Given the description of an element on the screen output the (x, y) to click on. 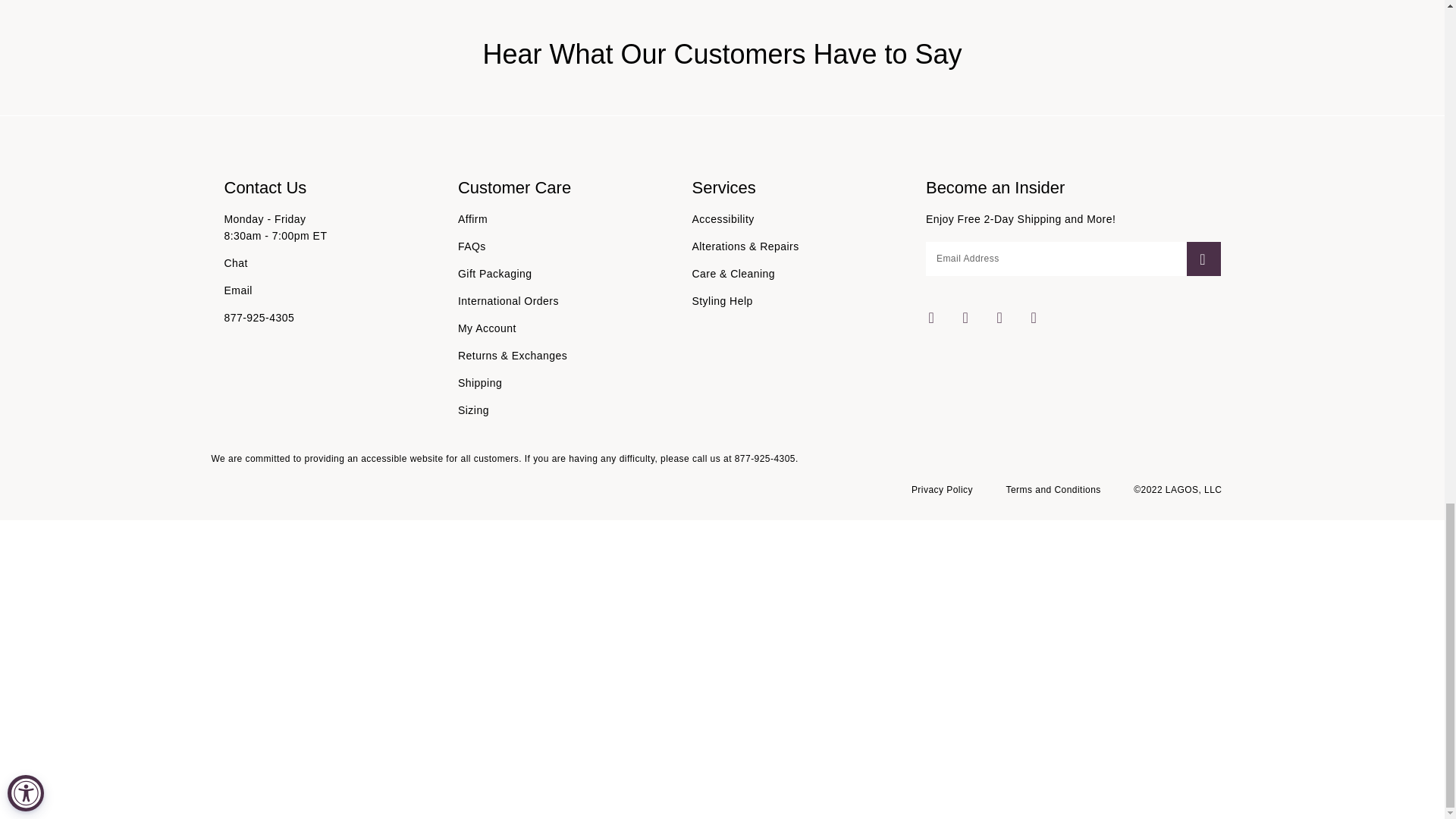
LAGOS on Twitter (1034, 316)
LAGOS on Pinterest (999, 316)
LAGOS on Instagram (965, 316)
LAGOS on Facebook (930, 316)
